Given the description of an element on the screen output the (x, y) to click on. 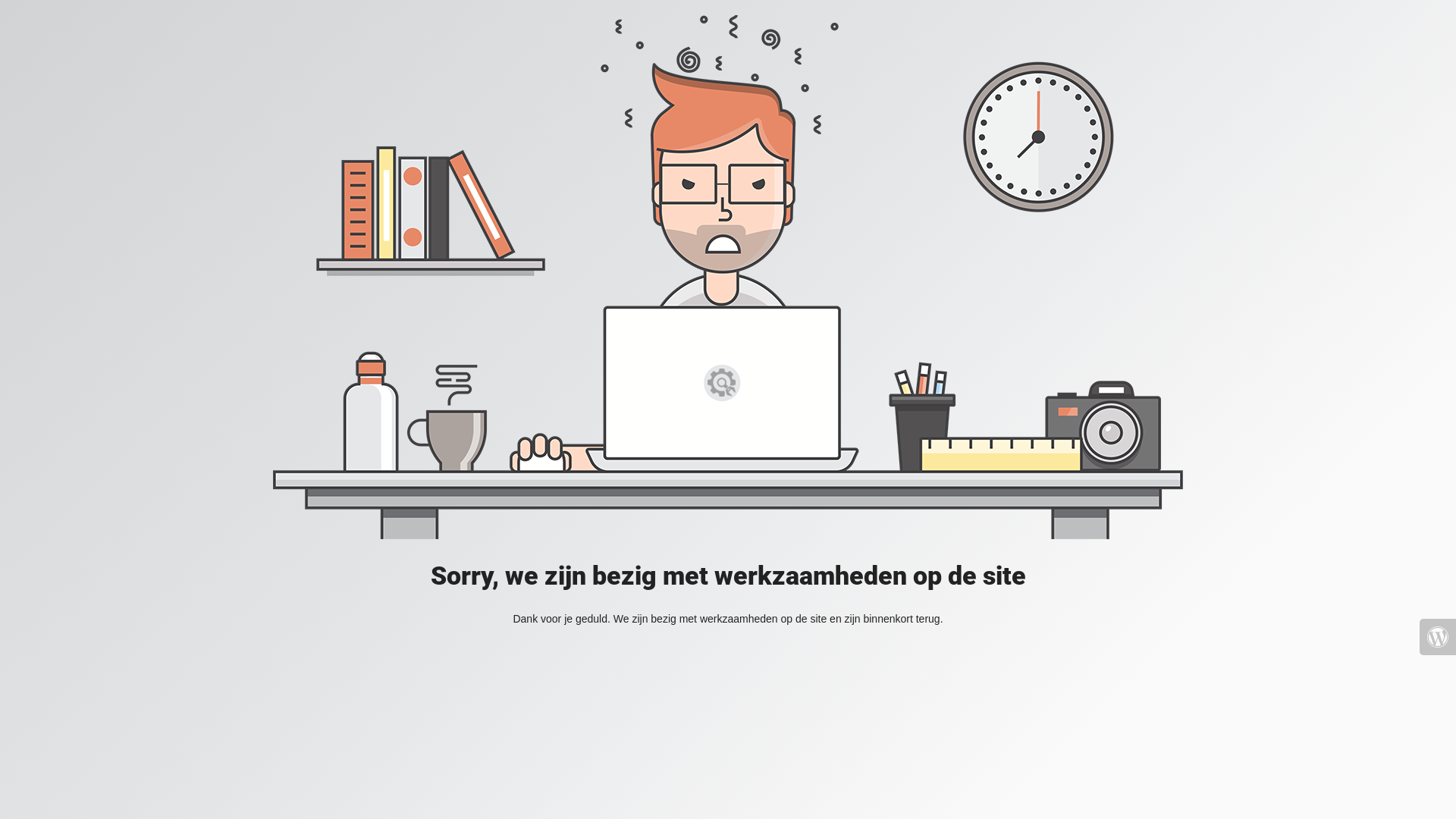
Mad Designer at work Element type: hover (728, 277)
